Given the description of an element on the screen output the (x, y) to click on. 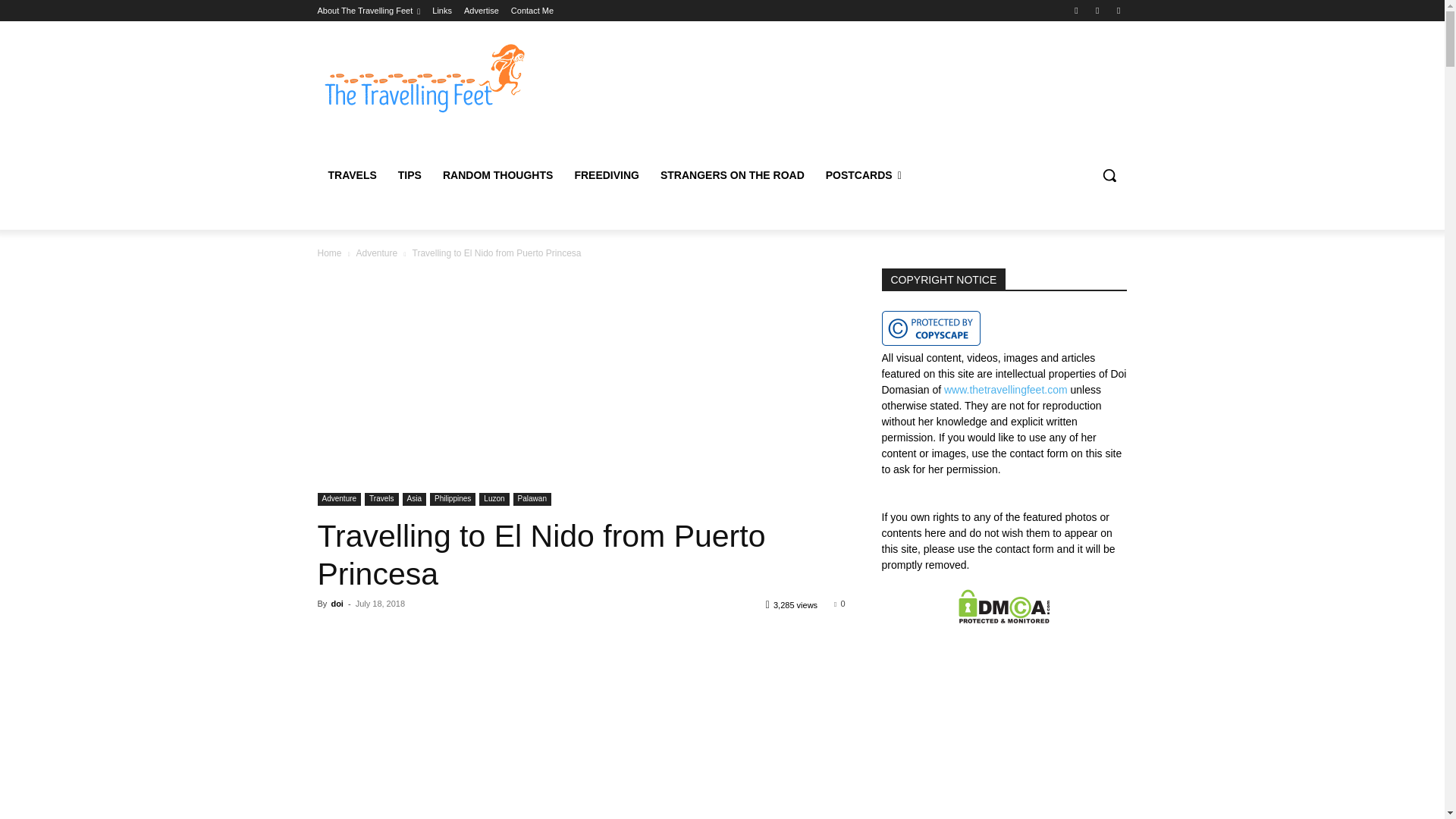
Home (328, 253)
Palawan (532, 499)
RANDOM THOUGHTS (497, 175)
Adventure (376, 253)
Advertise (481, 10)
Philippines (452, 499)
Links (441, 10)
0 (839, 603)
TIPS (409, 175)
Asia (414, 499)
